Given the description of an element on the screen output the (x, y) to click on. 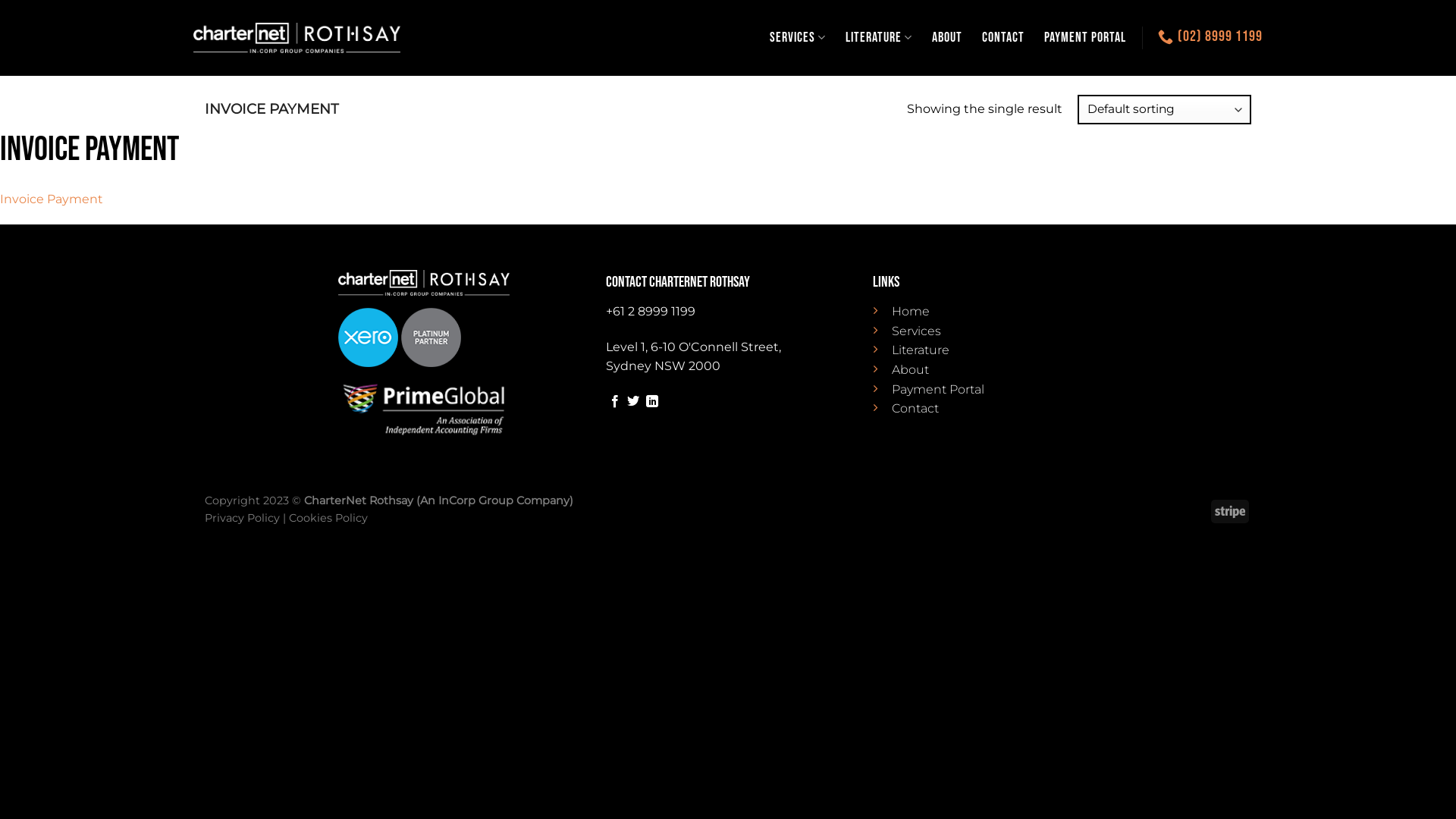
About Element type: text (909, 369)
Payment Portal Element type: text (937, 389)
SERVICES Element type: text (797, 37)
CONTACT Element type: text (1003, 37)
LITERATURE Element type: text (878, 37)
Privacy Policy Element type: text (241, 517)
Cookies Policy Element type: text (327, 517)
ABOUT Element type: text (946, 37)
Invoice Payment Element type: text (51, 198)
Contact Element type: text (914, 408)
Literature Element type: text (920, 349)
Home Element type: text (910, 311)
Services Element type: text (916, 330)
PAYMENT PORTAL Element type: text (1085, 37)
(02) 8999 1199 Element type: text (1209, 36)
